Given the description of an element on the screen output the (x, y) to click on. 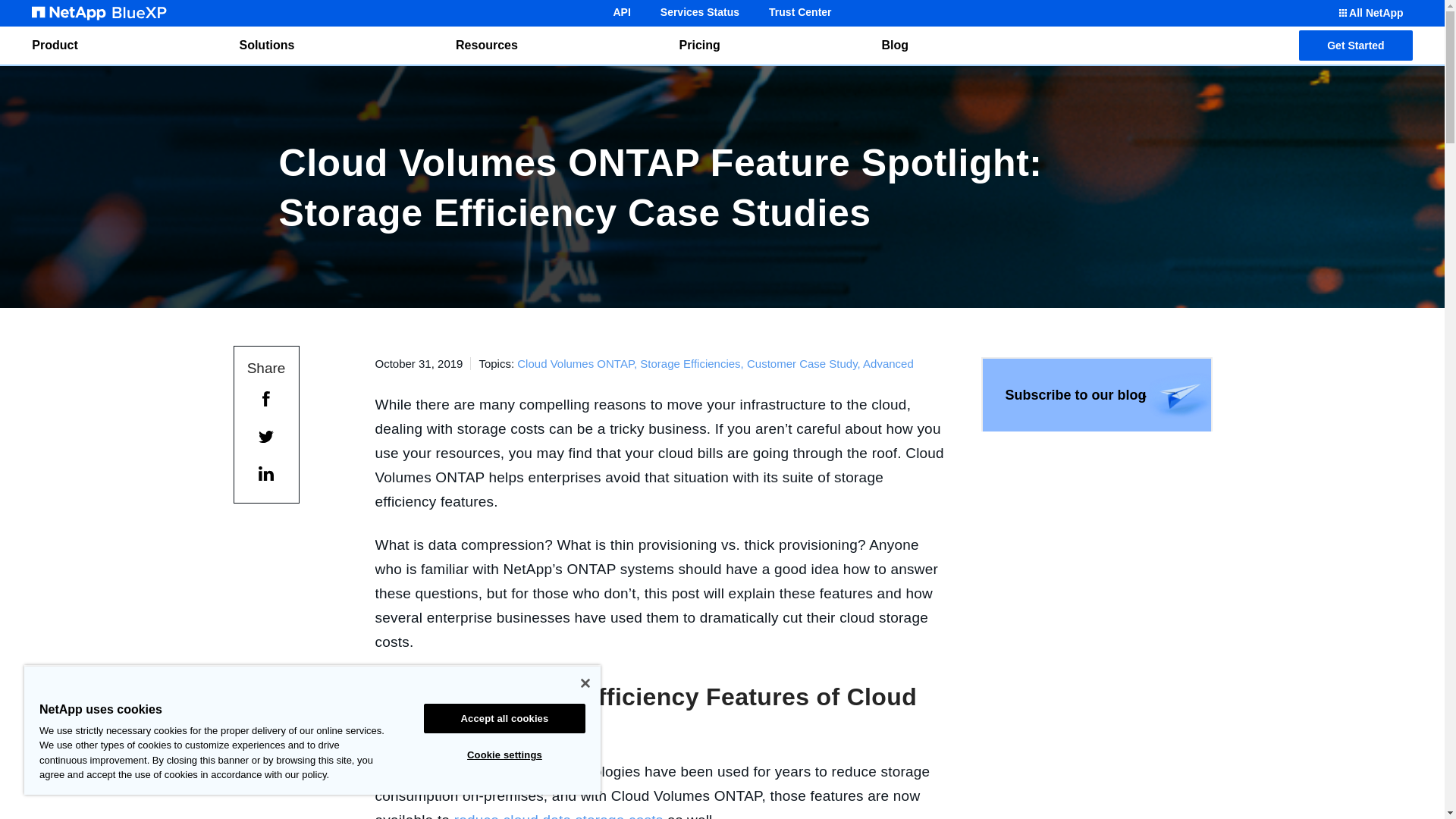
Services Status (699, 12)
API (621, 12)
All NetApp (1369, 13)
Trust Center (800, 12)
Product (54, 45)
NetApp BlueXP (99, 12)
